Given the description of an element on the screen output the (x, y) to click on. 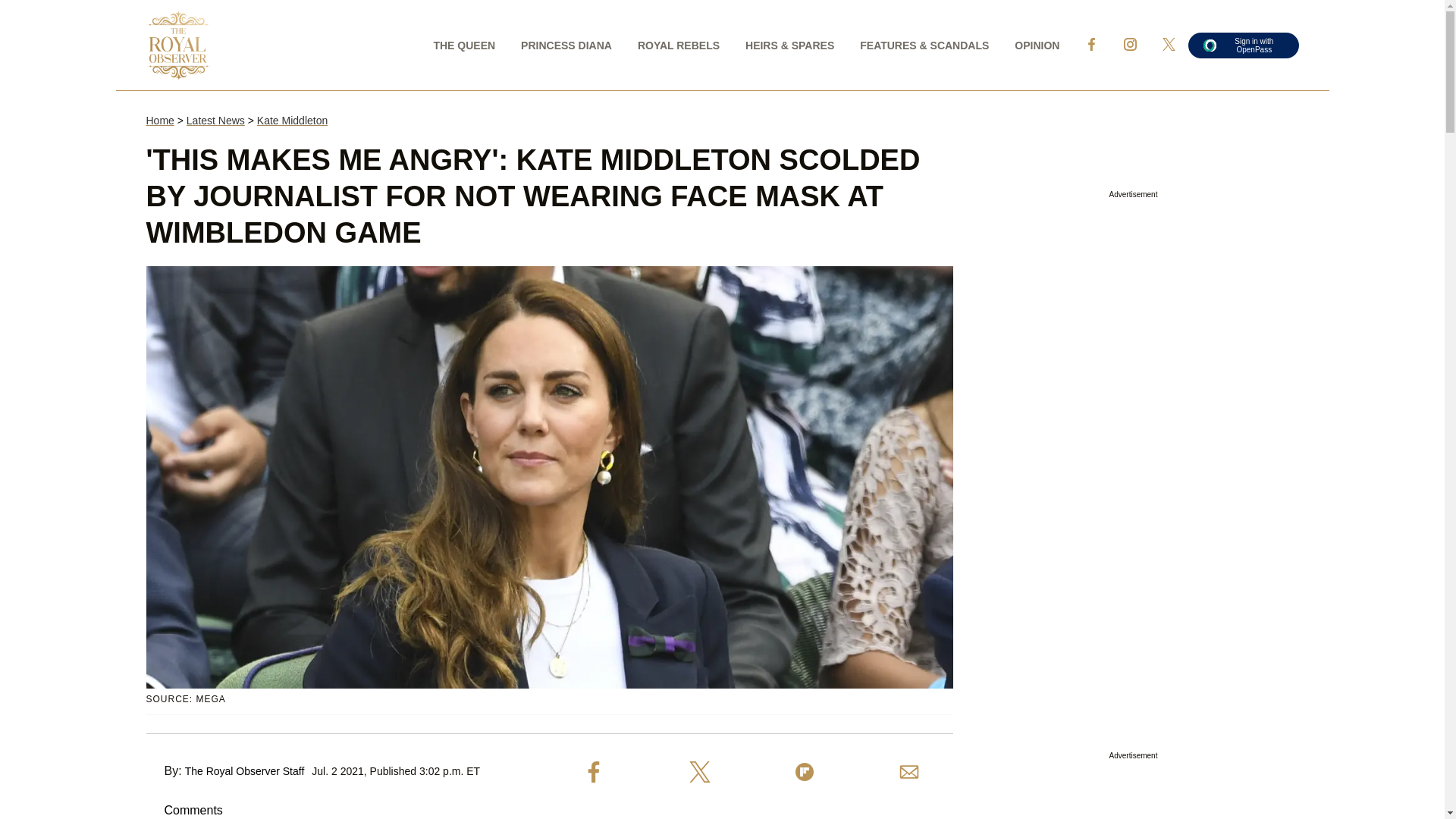
LINK TO INSTAGRAM (1130, 44)
LINK TO FACEBOOK (1090, 43)
Kate Middleton (292, 120)
Home (159, 120)
LINK TO INSTAGRAM (1130, 43)
Link to X (1169, 44)
OPINION (1036, 44)
THE QUEEN (464, 44)
ROYAL REBELS (678, 44)
Sign in with OpenPass (1243, 44)
LINK TO FACEBOOK (1090, 44)
LINK TO X (1167, 43)
The Royal Observer Staff (244, 770)
Latest News (215, 120)
Comments (183, 809)
